Given the description of an element on the screen output the (x, y) to click on. 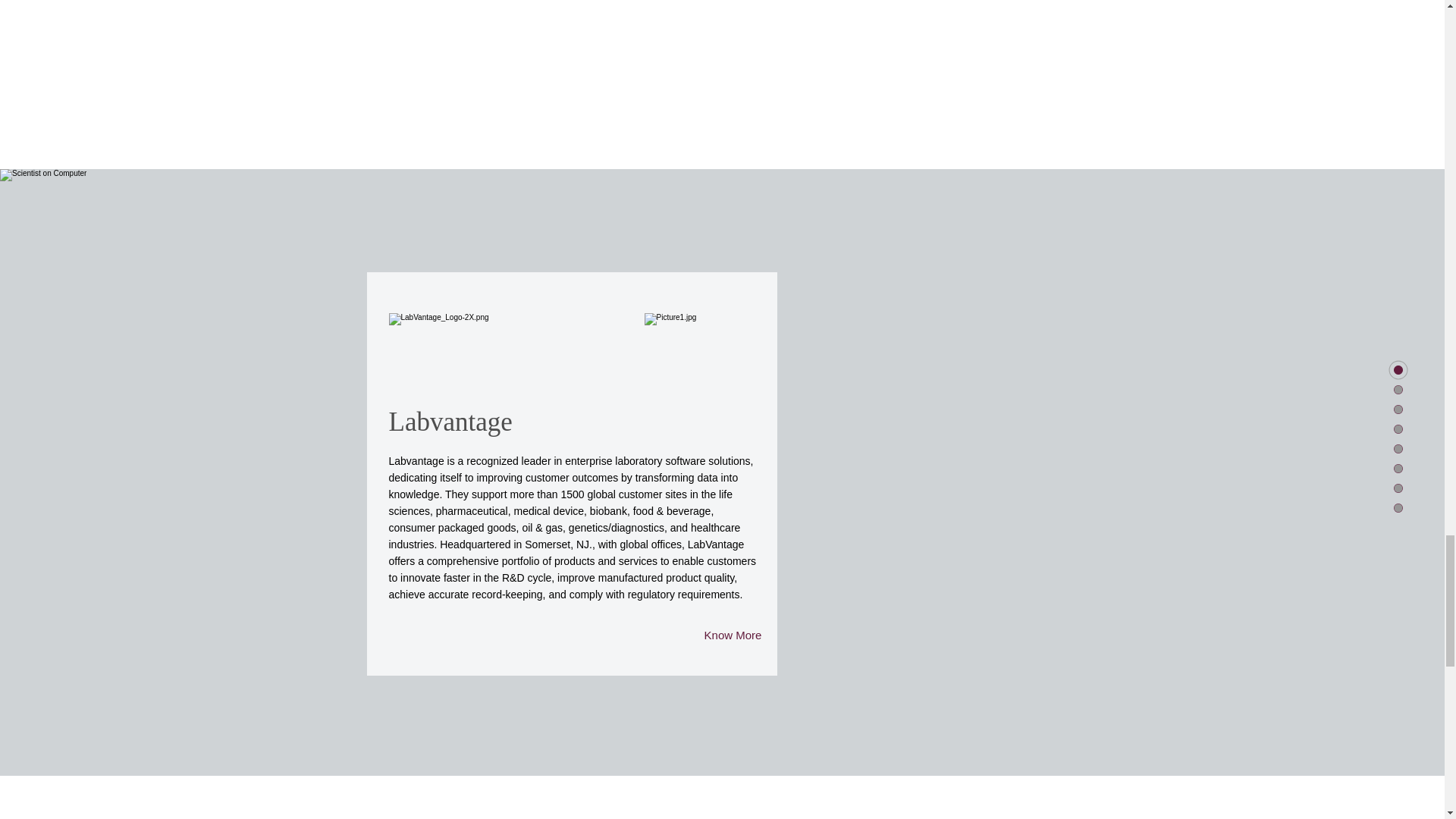
Know More (732, 635)
